Given the description of an element on the screen output the (x, y) to click on. 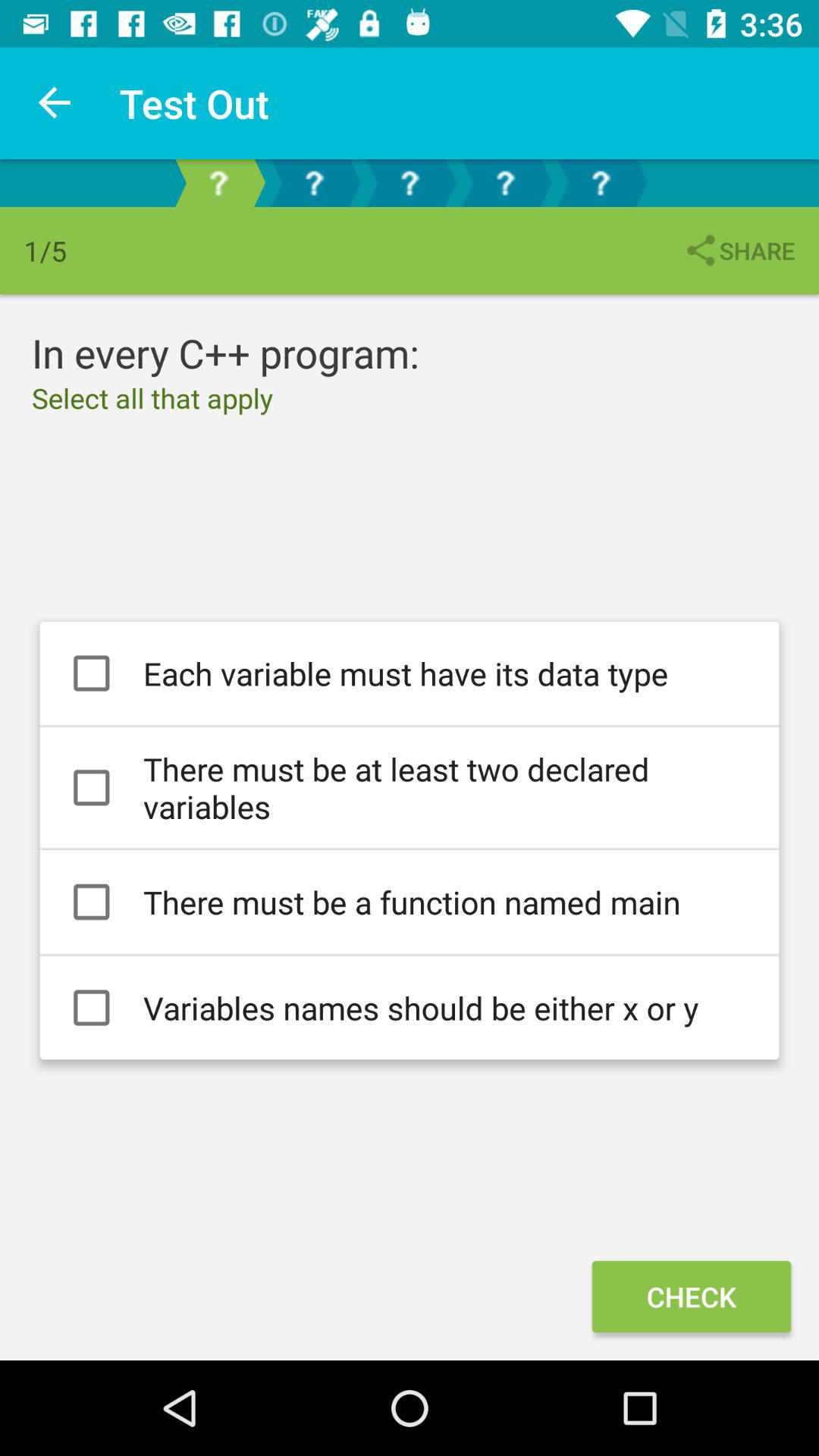
select the item above the each variable must item (738, 250)
